Given the description of an element on the screen output the (x, y) to click on. 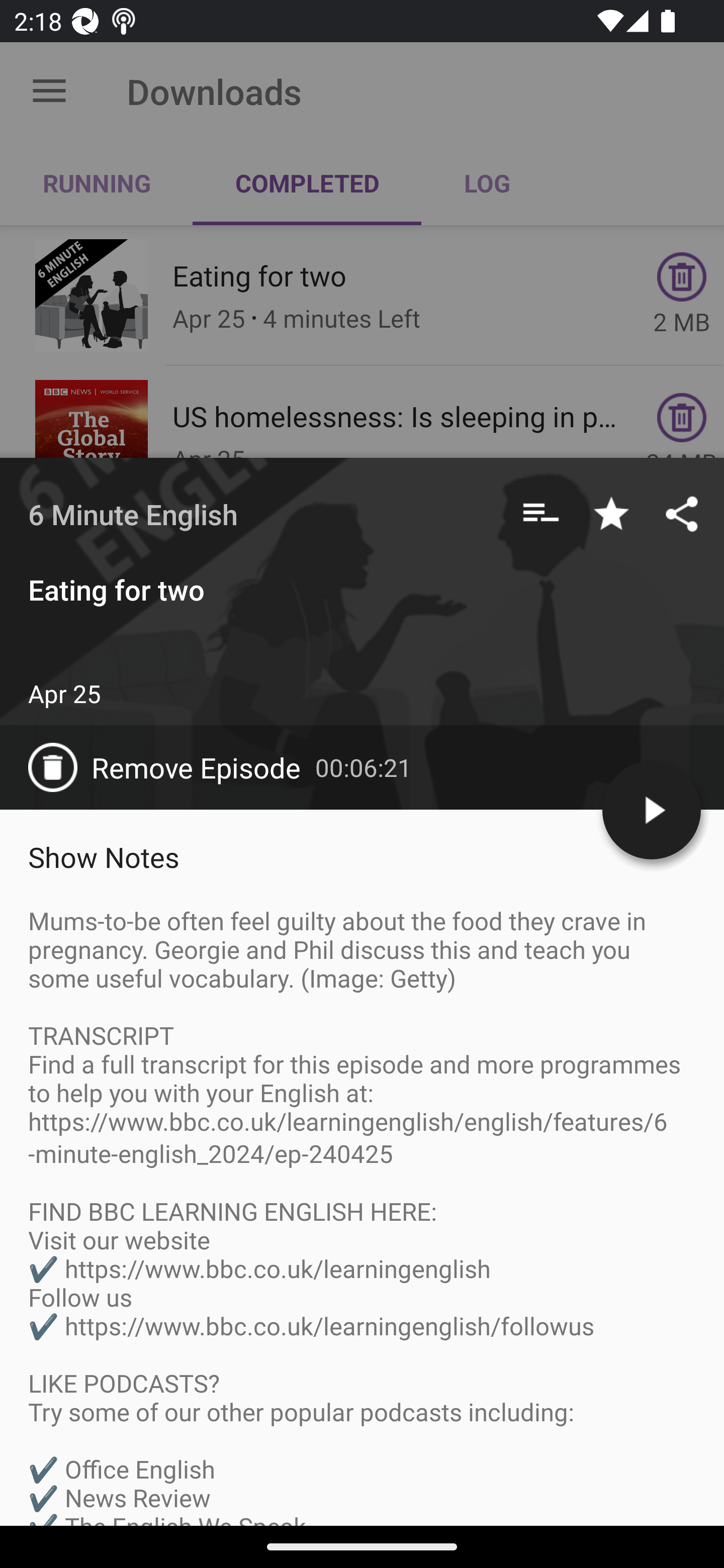
Remove Episode (171, 767)
